Given the description of an element on the screen output the (x, y) to click on. 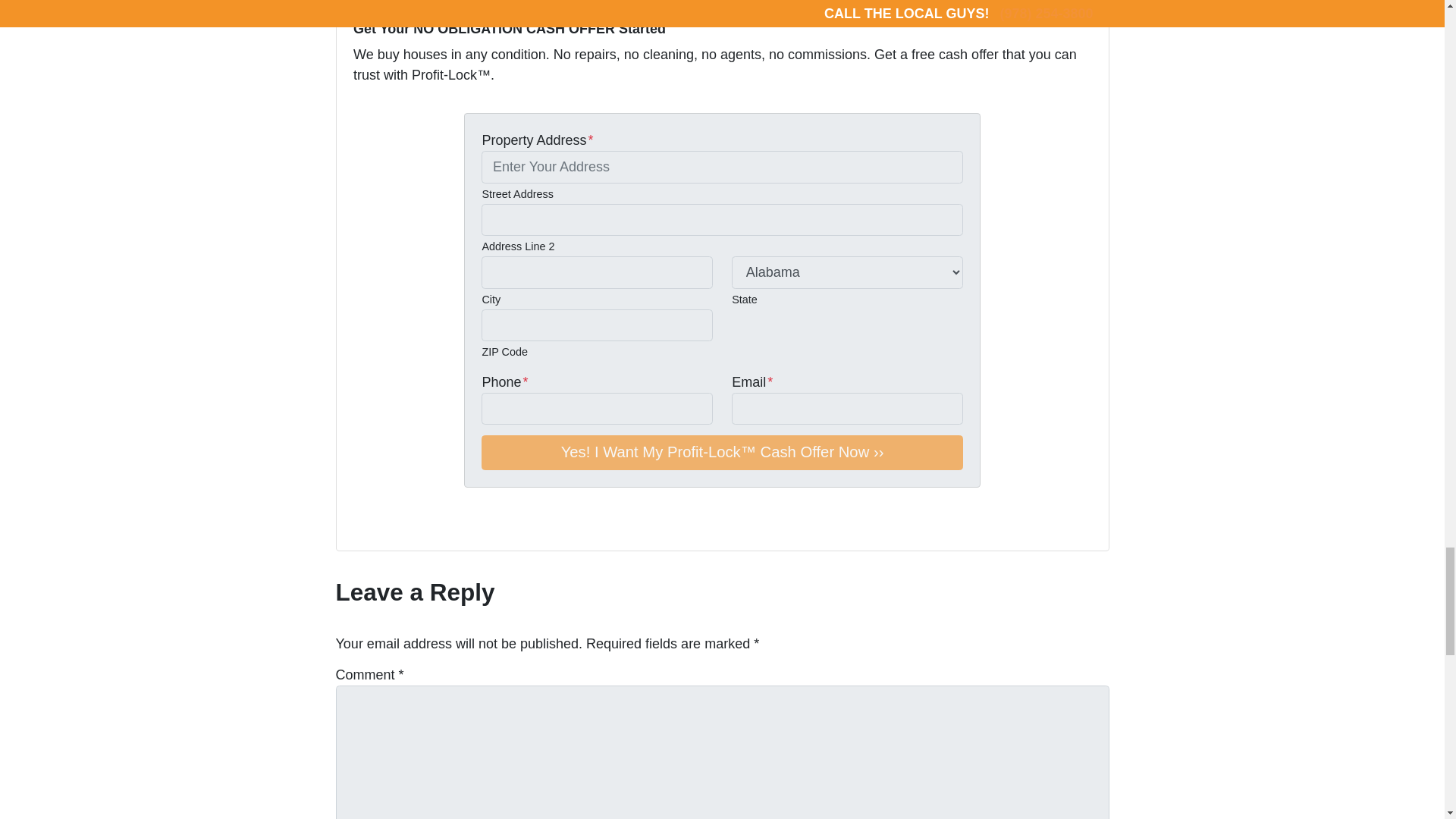
Houzz (489, 524)
LinkedIn (425, 524)
Facebook (383, 524)
Instagram (447, 524)
YouTube (404, 524)
Twitter (362, 524)
Pinterest (468, 524)
